Given the description of an element on the screen output the (x, y) to click on. 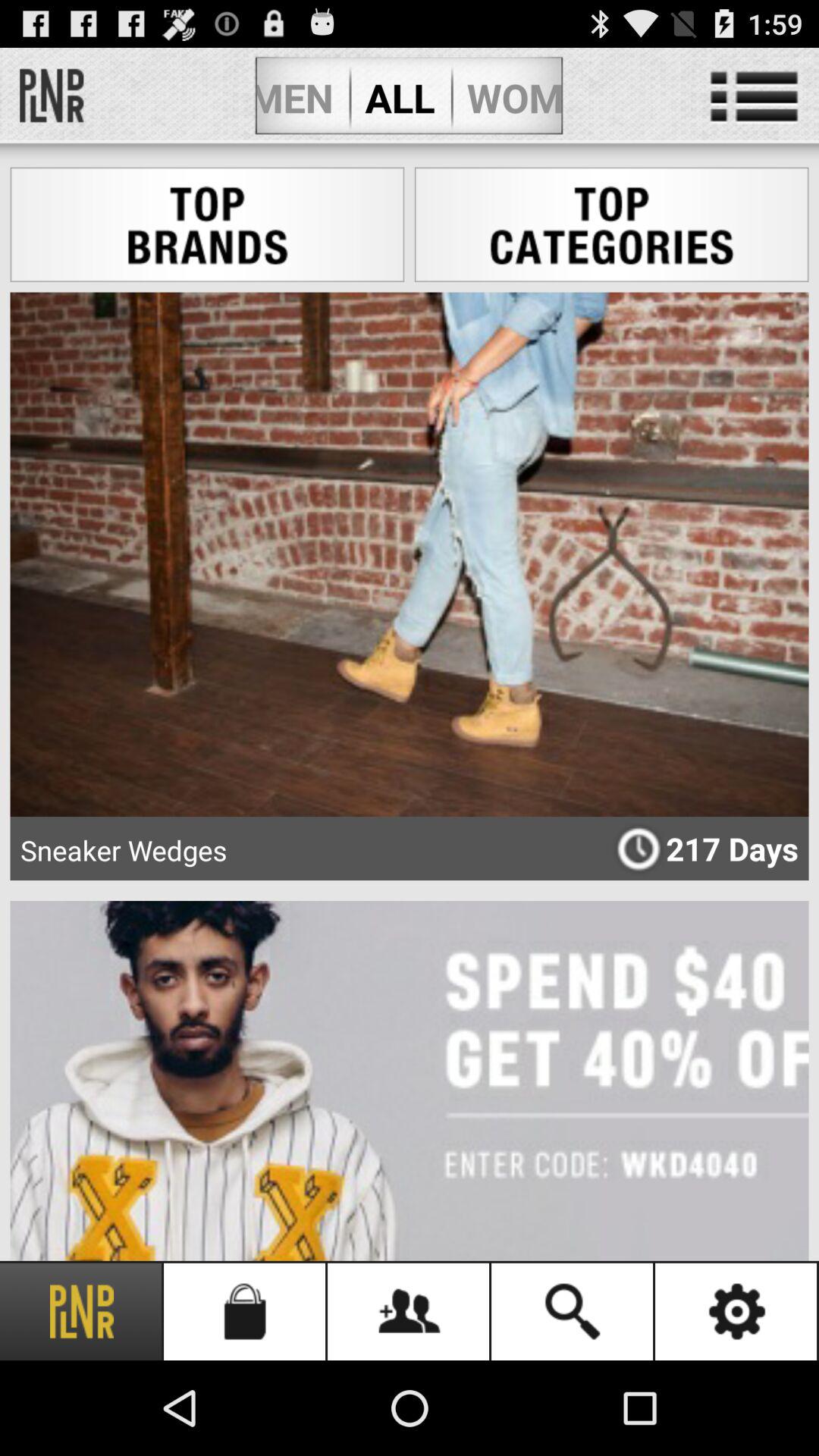
click on the icon next to setting icon (573, 1311)
click on options on the top right (754, 96)
click on the second image (409, 1080)
